Given the description of an element on the screen output the (x, y) to click on. 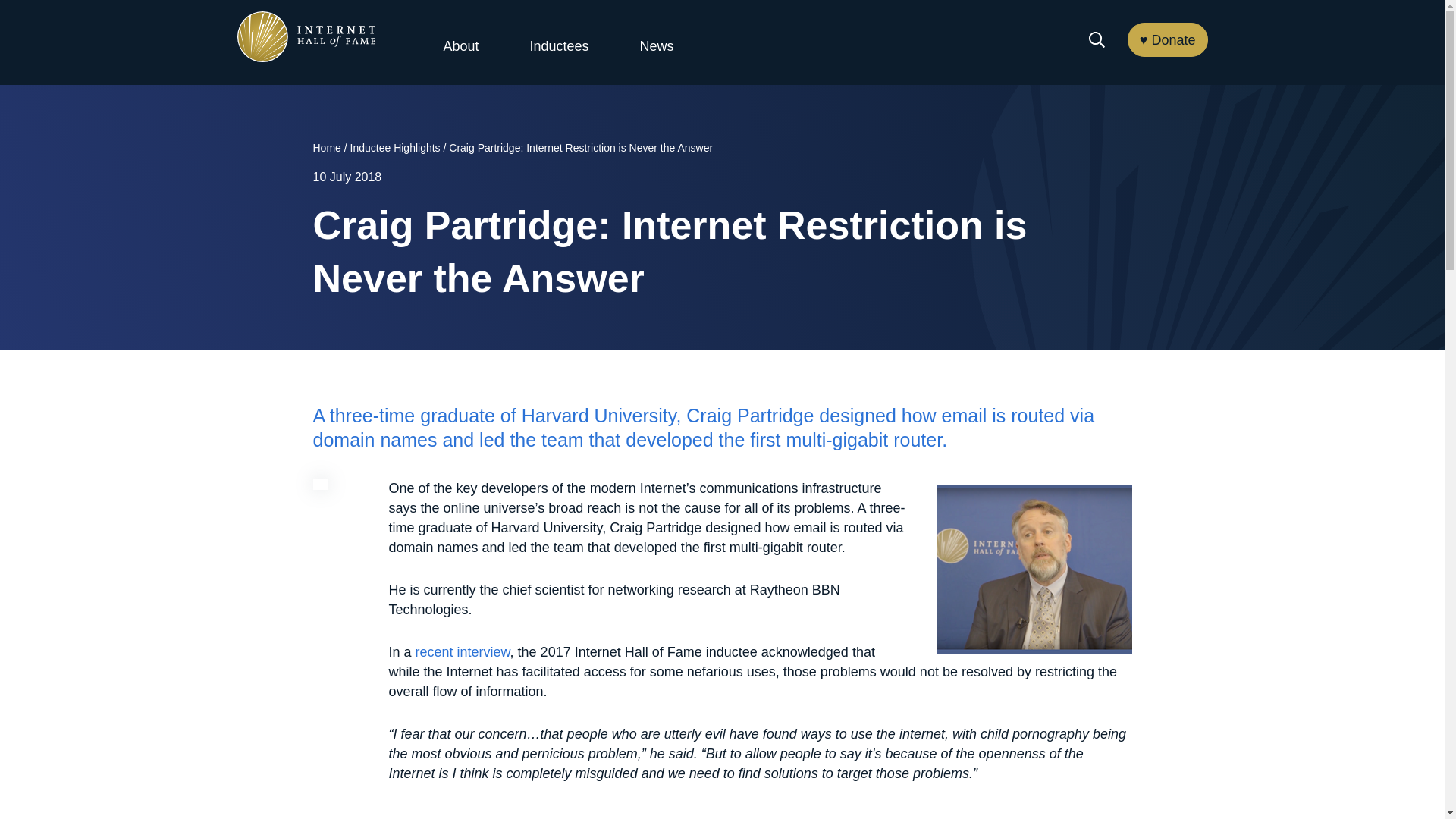
Inductees (558, 45)
Home (326, 147)
Search Dropdown (1096, 39)
About (460, 45)
Inductee Highlights (395, 147)
recent interview (462, 652)
News (657, 45)
